Given the description of an element on the screen output the (x, y) to click on. 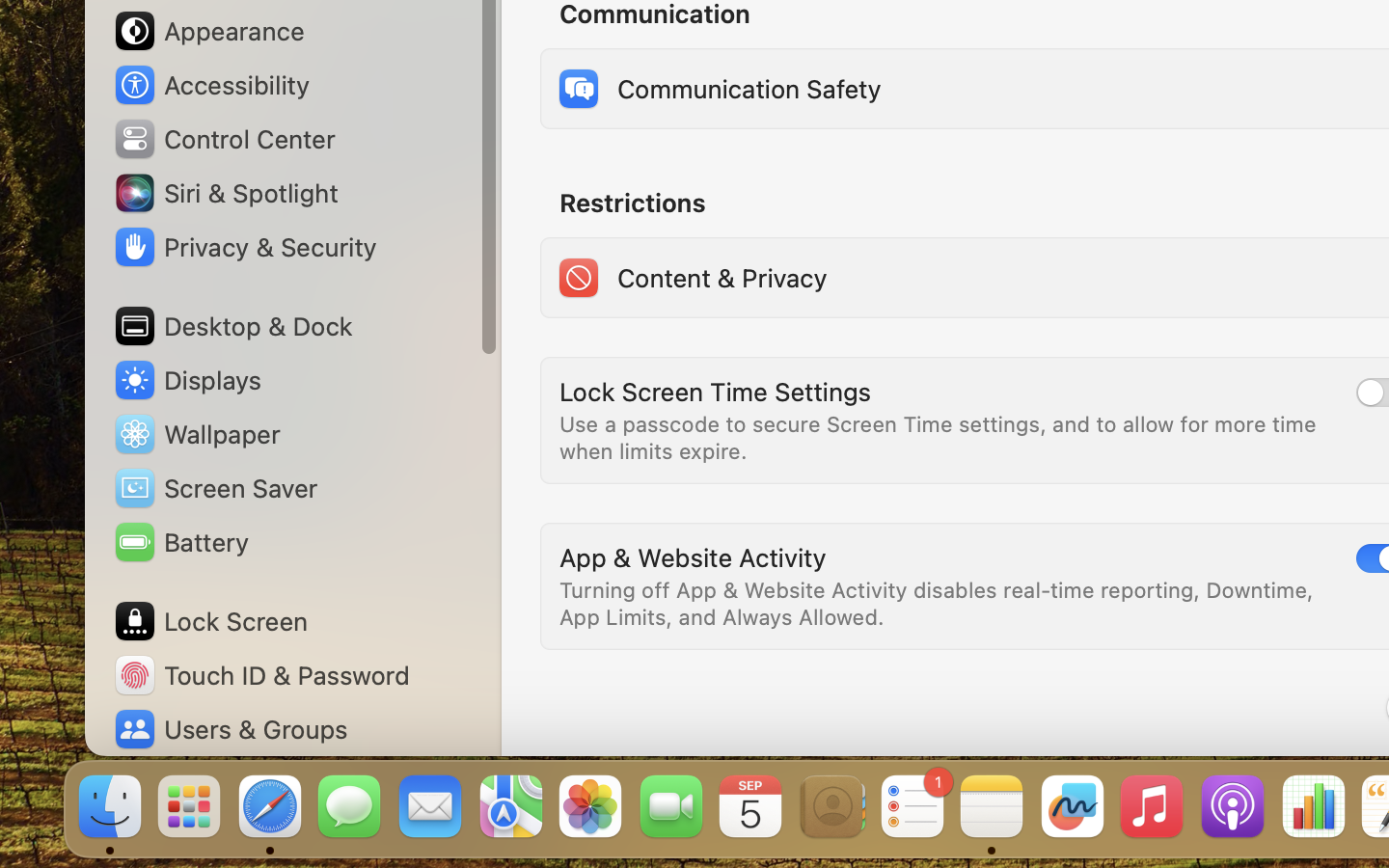
Turning off App & Website Activity disables real-time reporting, Downtime, App Limits, and Always Allowed. Element type: AXStaticText (939, 603)
Touch ID & Password Element type: AXStaticText (260, 674)
Accessibility Element type: AXStaticText (210, 84)
Screen Saver Element type: AXStaticText (214, 487)
Use a passcode to secure Screen Time settings, and to allow for more time when limits expire. Element type: AXStaticText (941, 437)
